Given the description of an element on the screen output the (x, y) to click on. 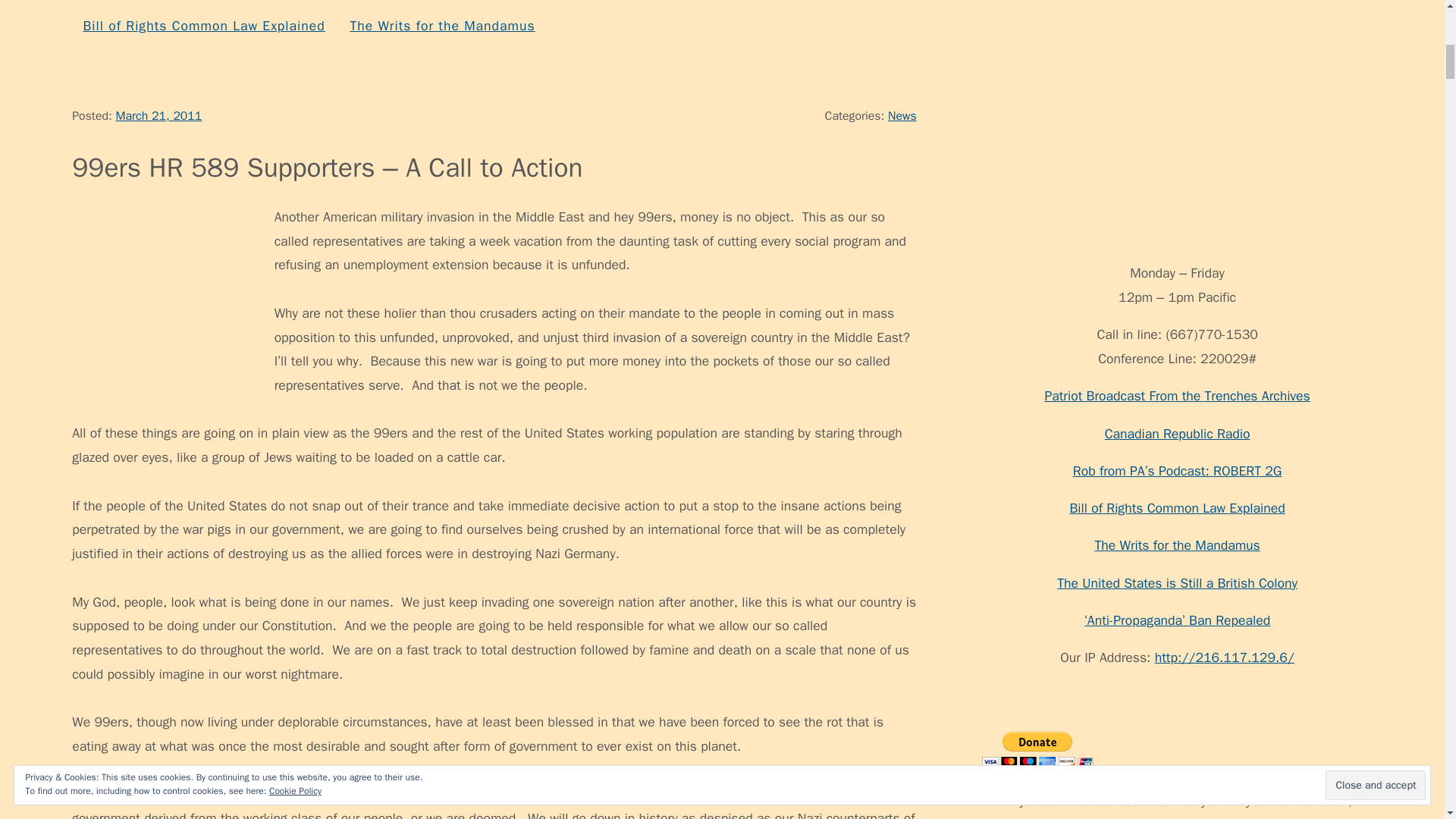
The Bill of Rights (935, 3)
Patriot Broadcast Archives (1103, 3)
About (163, 3)
Home (100, 3)
Red Pill Documentaries (778, 3)
Know Your Enemy (418, 3)
Bill of Rights Common Law Explained (203, 26)
The Writs for the Mandamus (441, 26)
News (902, 115)
March 21, 2011 (158, 115)
